Given the description of an element on the screen output the (x, y) to click on. 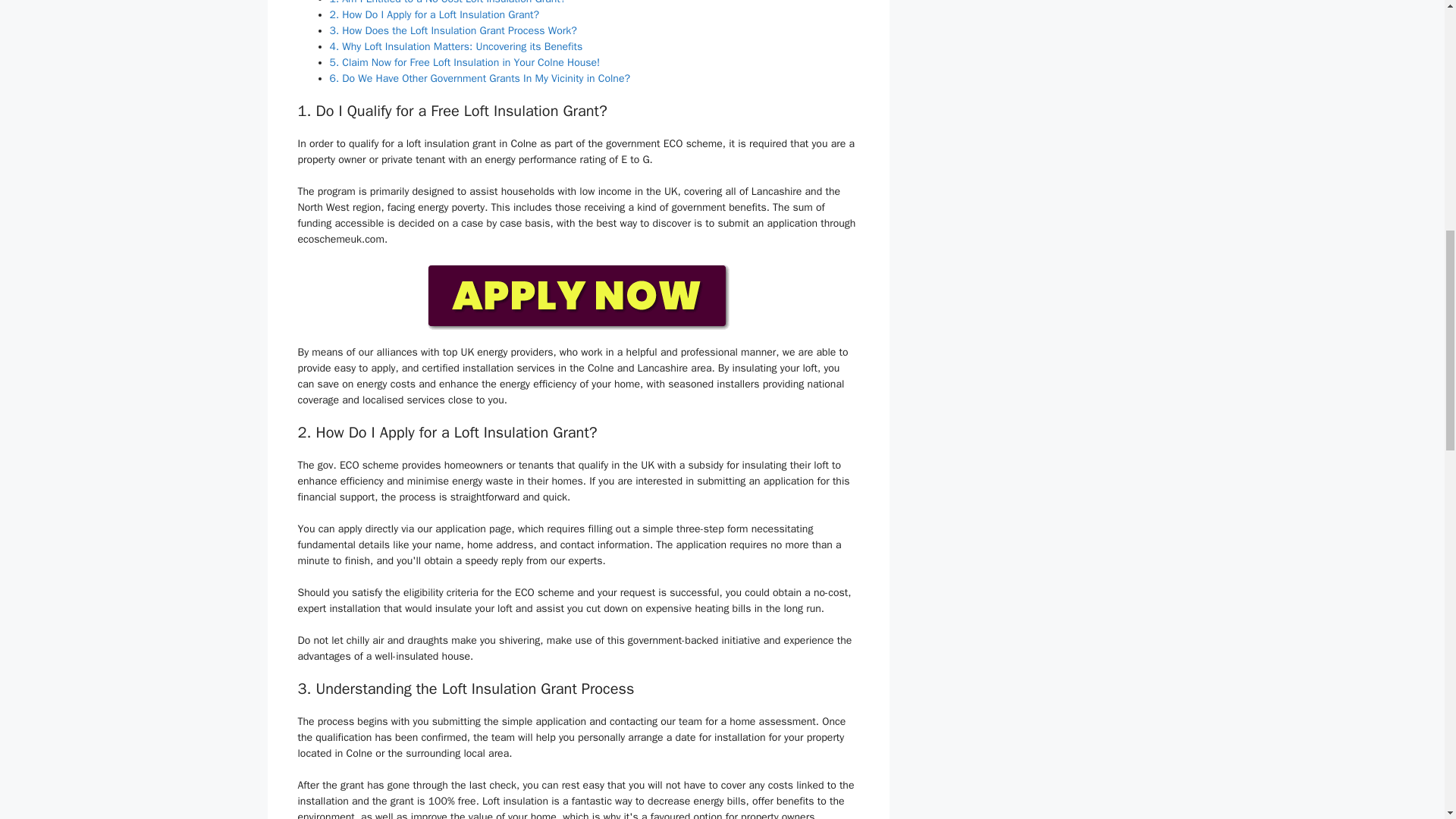
1. Am I Entitled to a No-Cost Loft Insulation Grant? (447, 2)
2. How Do I Apply for a Loft Insulation Grant? (433, 14)
3. How Does the Loft Insulation Grant Process Work? (452, 30)
4. Why Loft Insulation Matters: Uncovering its Benefits (455, 46)
5. Claim Now for Free Loft Insulation in Your Colne House! (464, 62)
